Given the description of an element on the screen output the (x, y) to click on. 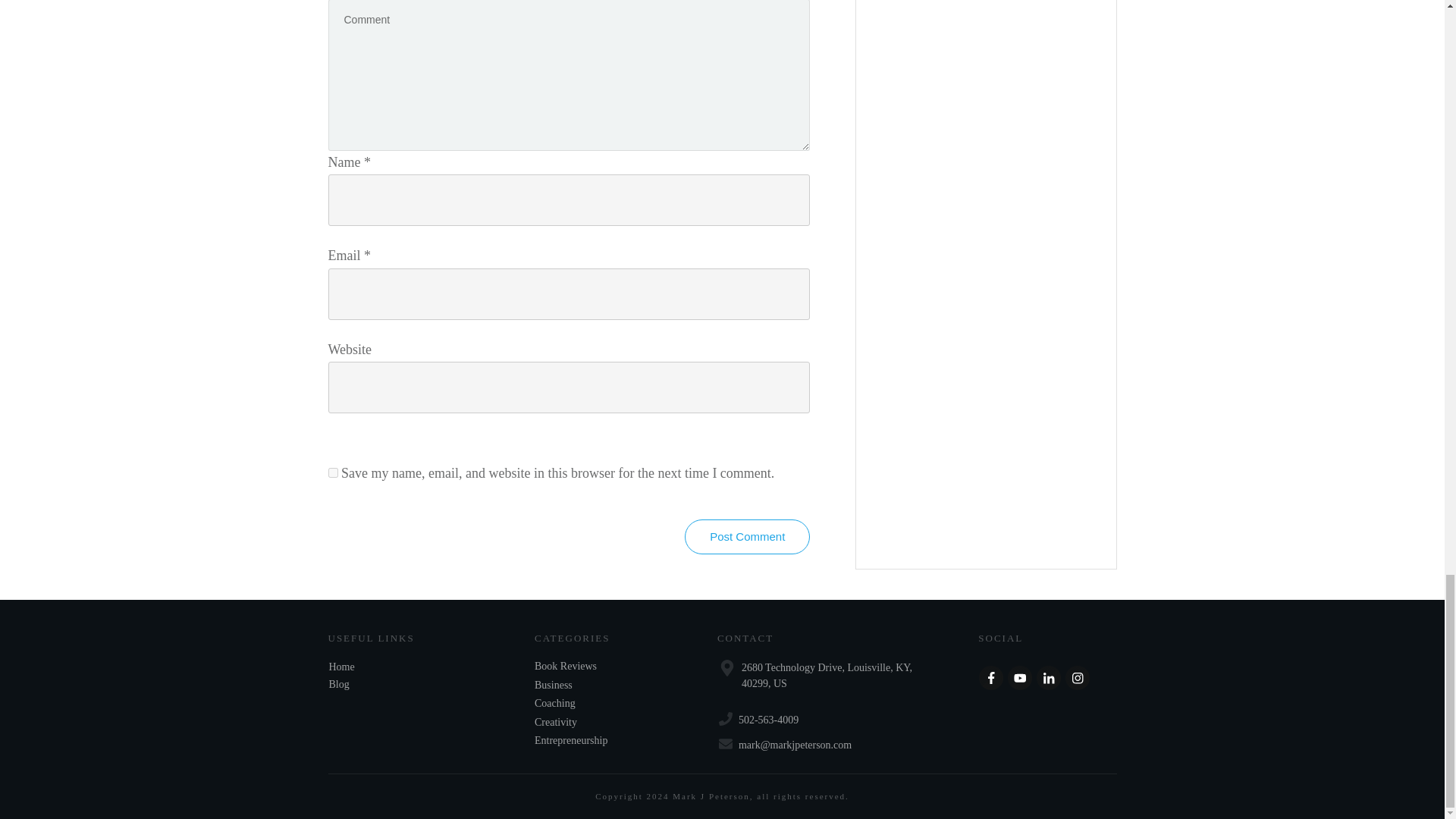
Home (342, 666)
Book Reviews (565, 666)
Blog (339, 684)
yes (332, 472)
Post Comment (746, 536)
Business (553, 685)
